Given the description of an element on the screen output the (x, y) to click on. 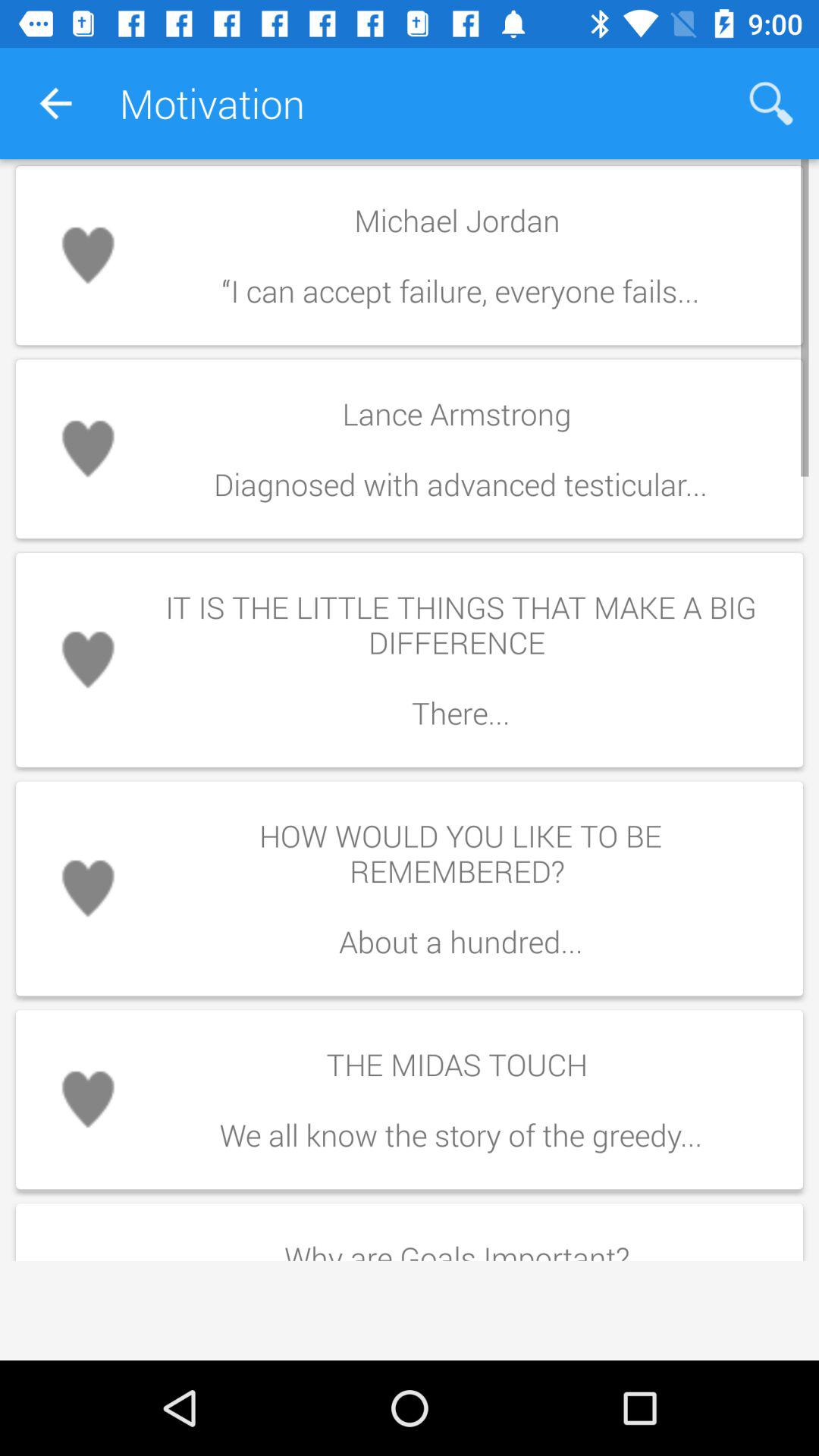
jump to the midas touch item (460, 1099)
